Given the description of an element on the screen output the (x, y) to click on. 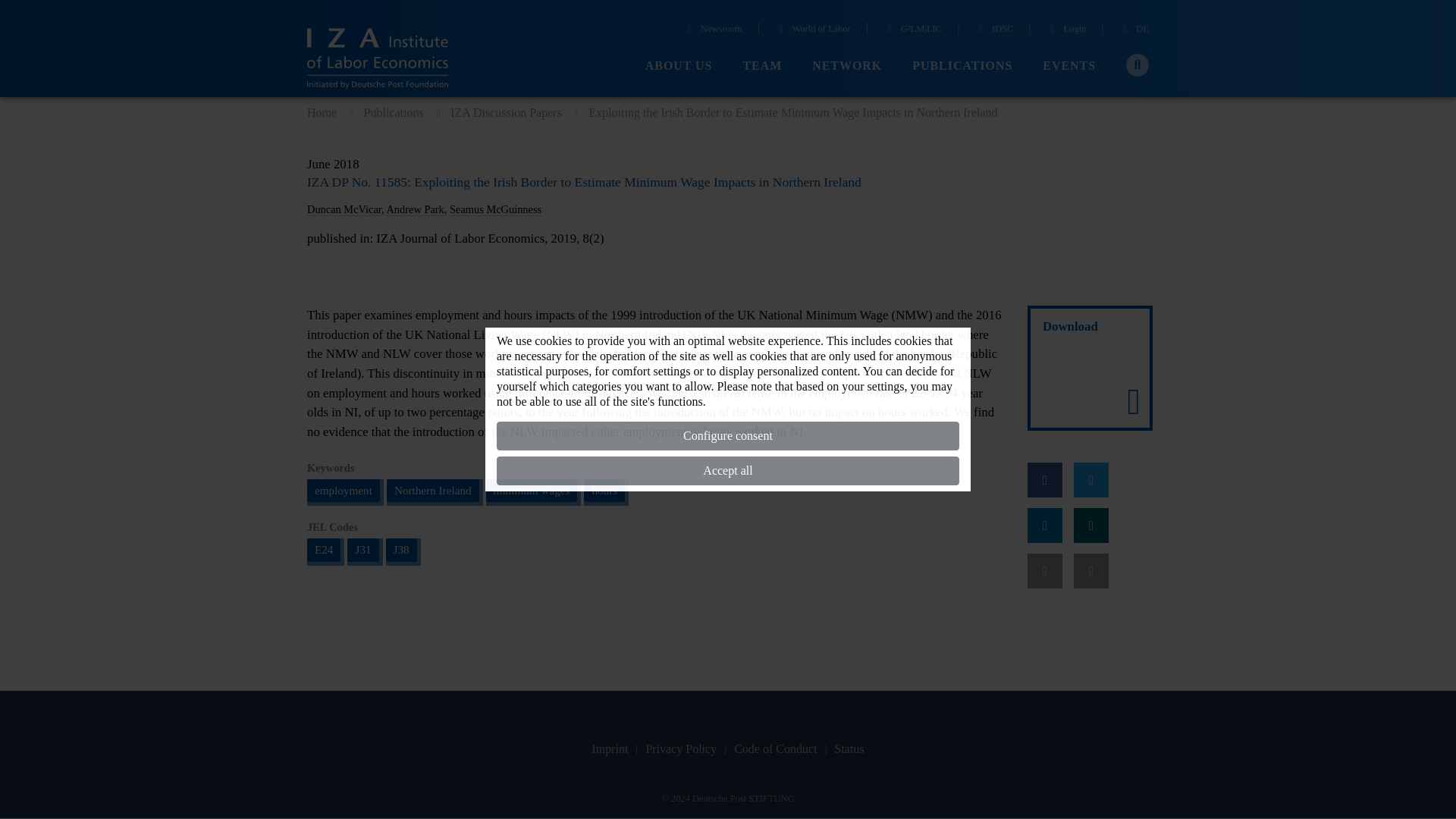
PUBLICATIONS (961, 66)
IDSC (993, 30)
TEAM (761, 66)
ABOUT US (679, 66)
Newsroom (712, 30)
DE (1133, 30)
World of Labor (812, 30)
NETWORK (847, 66)
EVENTS (1069, 66)
Login (1066, 30)
